Given the description of an element on the screen output the (x, y) to click on. 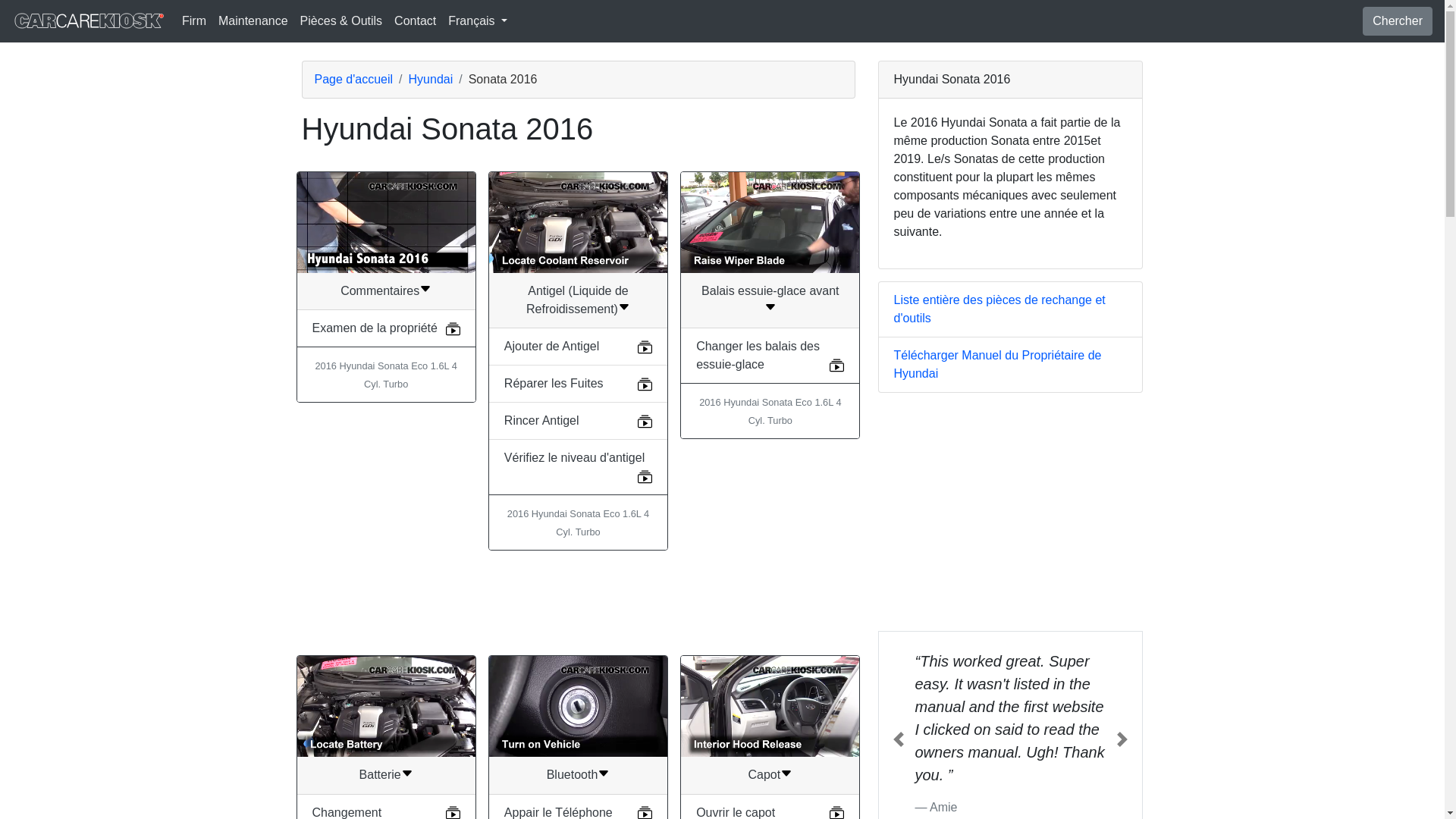
Ajouter de Antigel (550, 345)
Chercher (1397, 21)
3rd party ad content (1010, 511)
Batterie (386, 774)
Rincer Antigel (541, 420)
Maintenance (253, 20)
Contact (415, 20)
Firm (194, 20)
Ouvrir le capot (734, 812)
3rd party ad content (577, 602)
Bluetooth (578, 774)
Hyundai (430, 79)
Page d'accueil (353, 79)
Capot (770, 774)
Changer les balais des essuie-glace (757, 355)
